Given the description of an element on the screen output the (x, y) to click on. 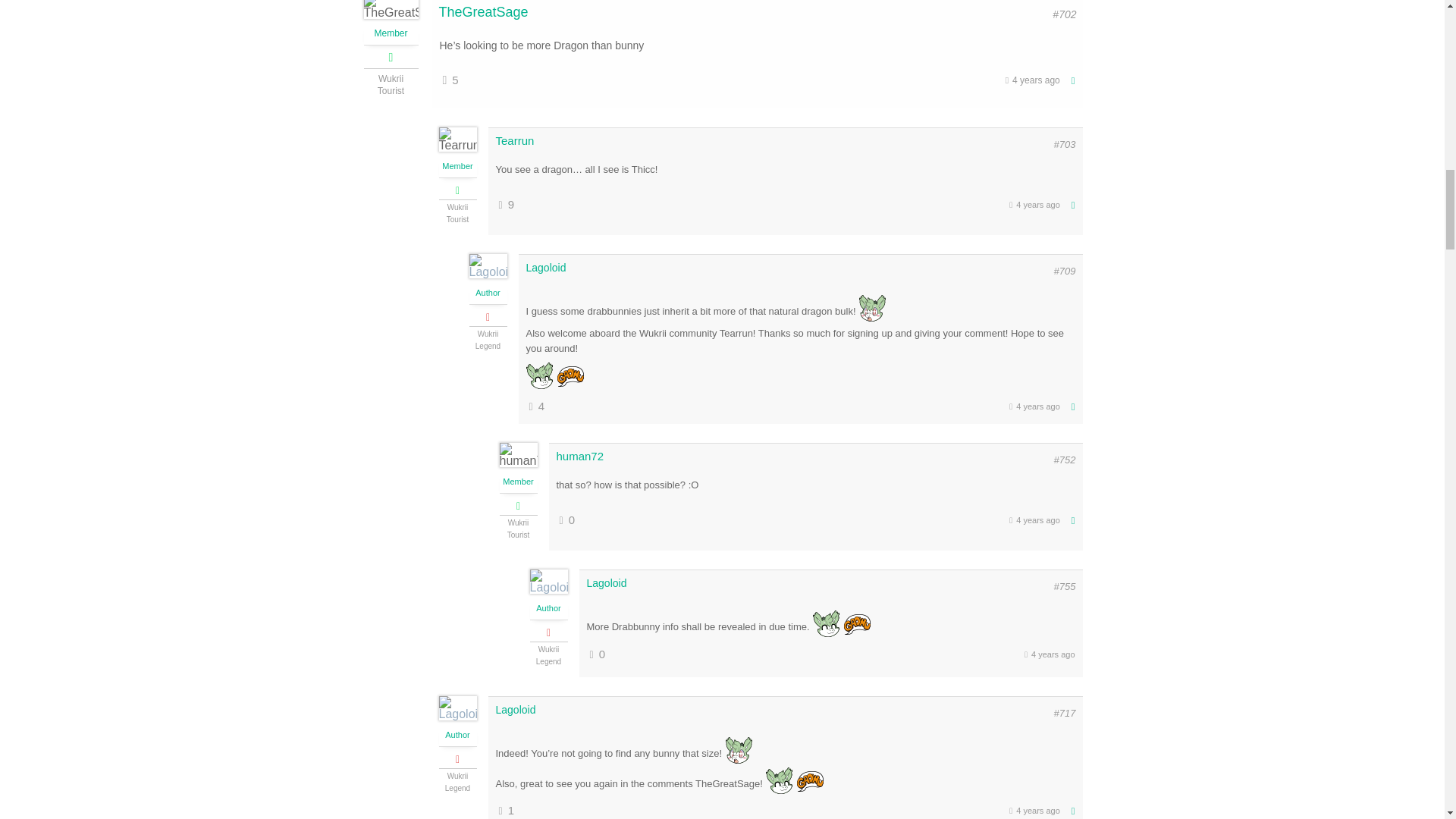
Lagoloid (515, 709)
Lagoloid (545, 267)
Lagoloid (606, 582)
